Given the description of an element on the screen output the (x, y) to click on. 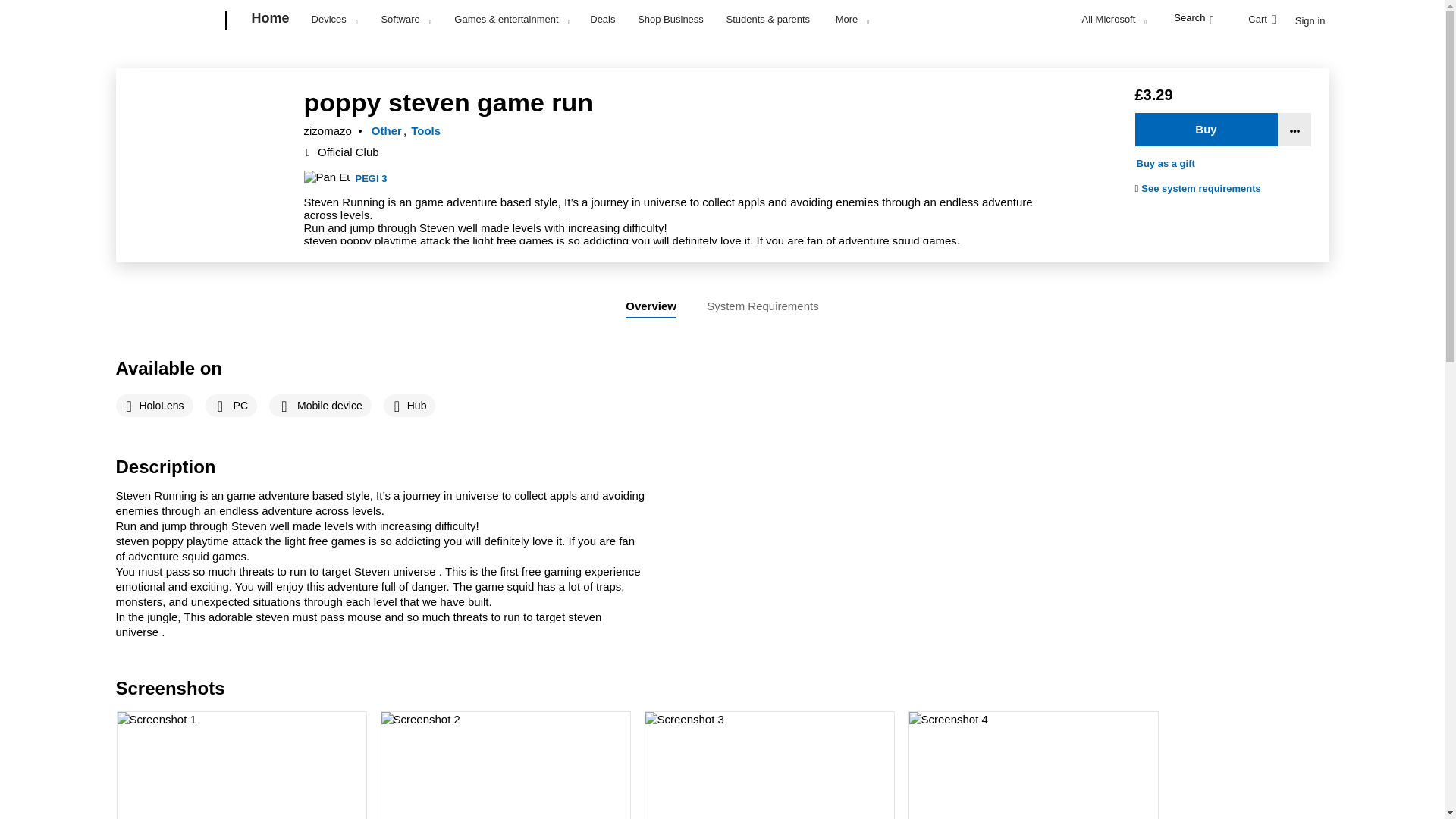
Devices (333, 18)
More (852, 18)
Software (405, 18)
Home (270, 20)
Microsoft (167, 20)
Shop Business (670, 18)
Deals (602, 18)
